Given the description of an element on the screen output the (x, y) to click on. 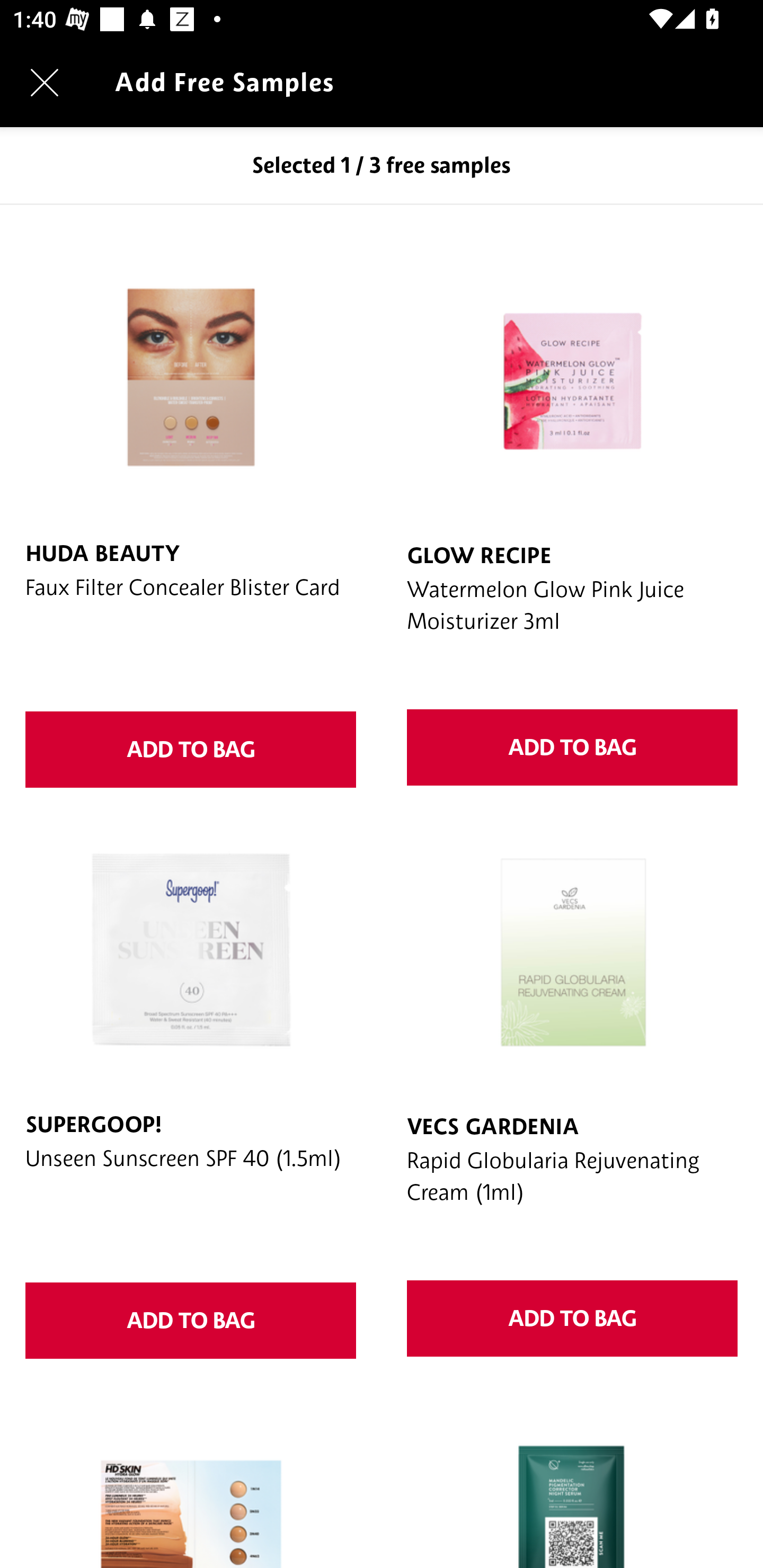
Navigate up (44, 82)
ADD TO BAG (571, 746)
ADD TO BAG (190, 749)
ADD TO BAG (571, 1318)
ADD TO BAG (190, 1320)
